Given the description of an element on the screen output the (x, y) to click on. 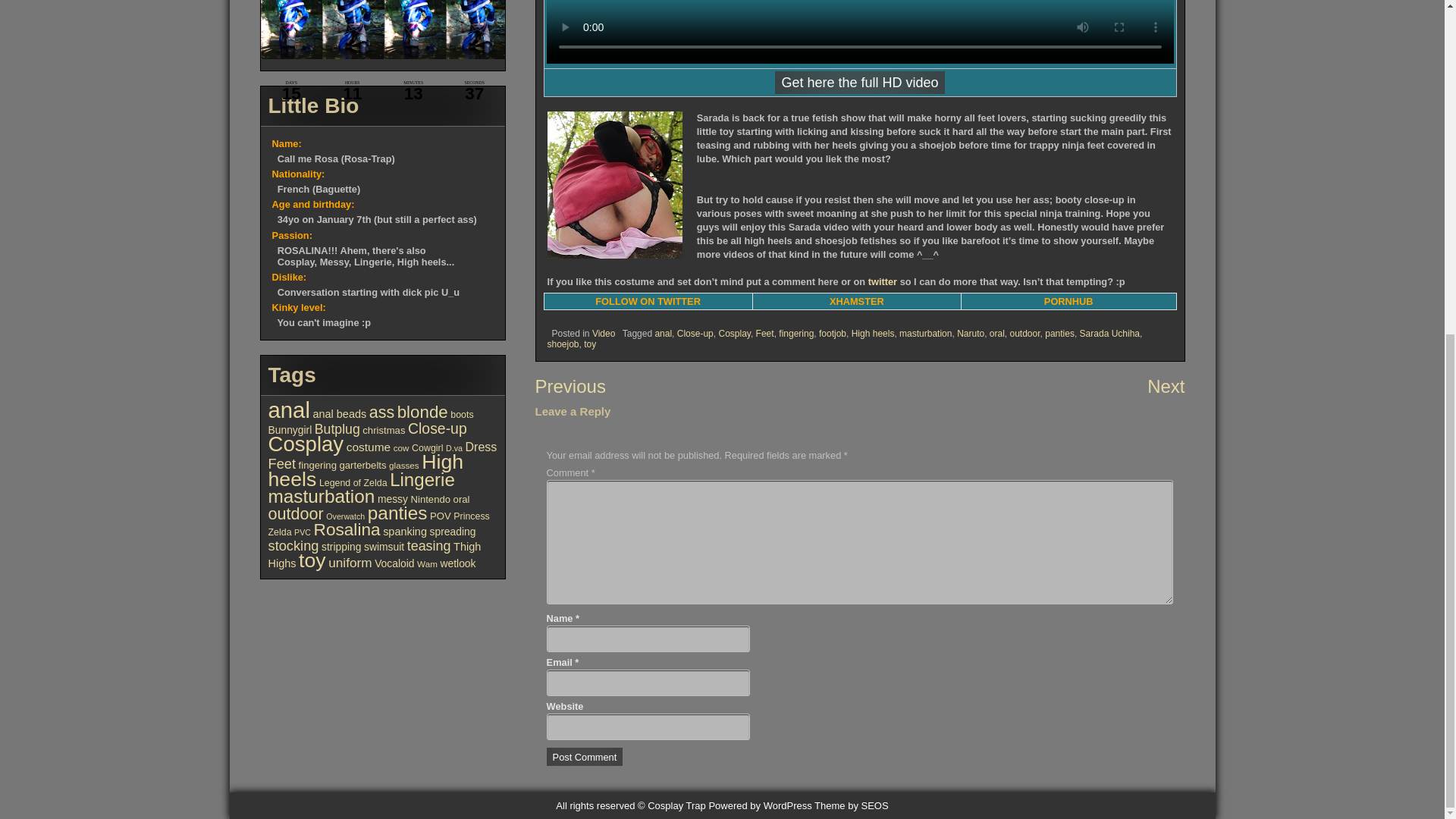
masturbation (925, 329)
footjob (831, 331)
Feet (764, 339)
anal (662, 337)
panties (1059, 333)
PORNHUB (1068, 293)
toy (589, 344)
FOLLOW ON TWITTER (647, 286)
High heels (873, 330)
Naruto (970, 331)
